Given the description of an element on the screen output the (x, y) to click on. 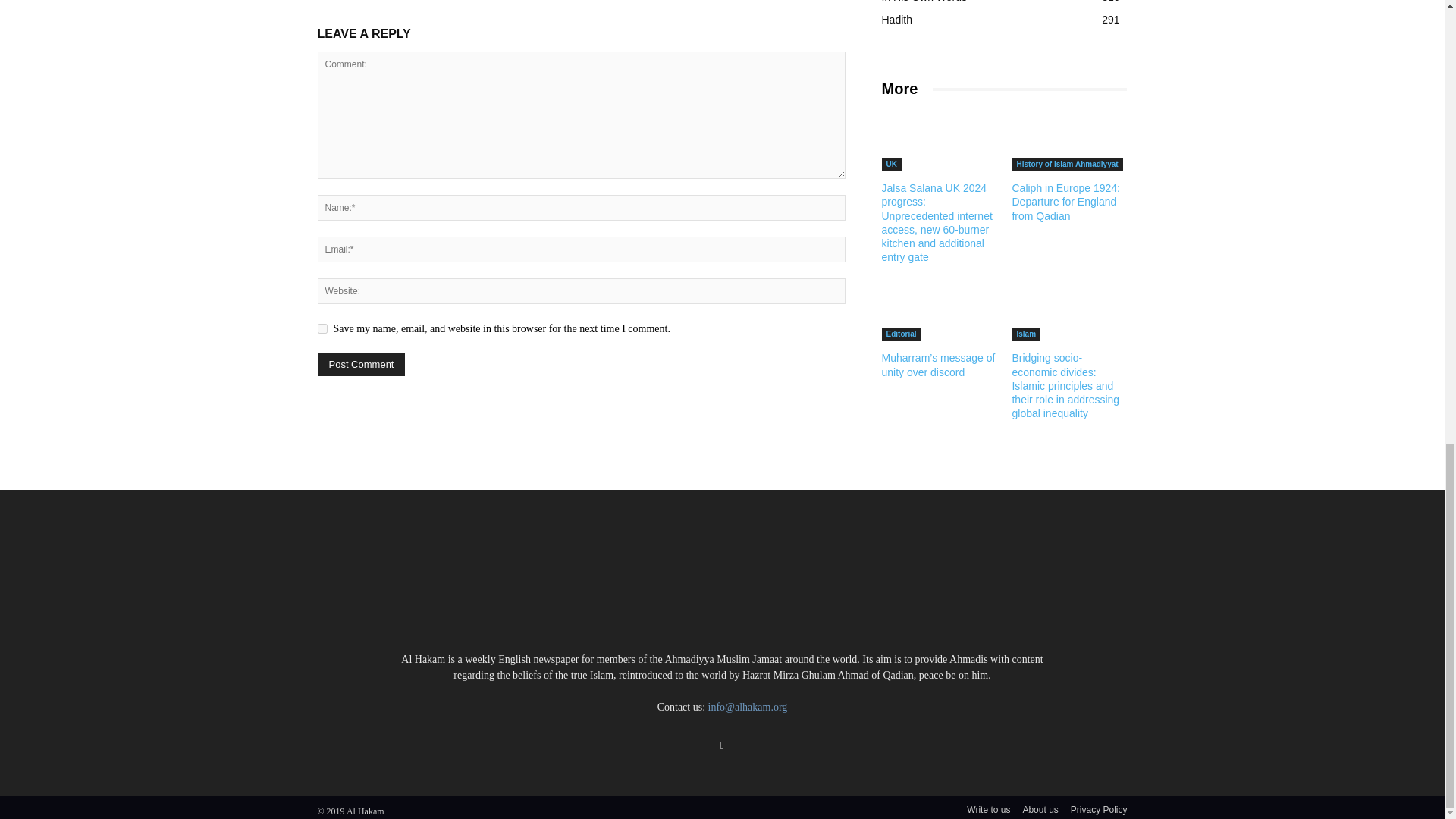
yes (321, 328)
Post Comment (360, 363)
